Given the description of an element on the screen output the (x, y) to click on. 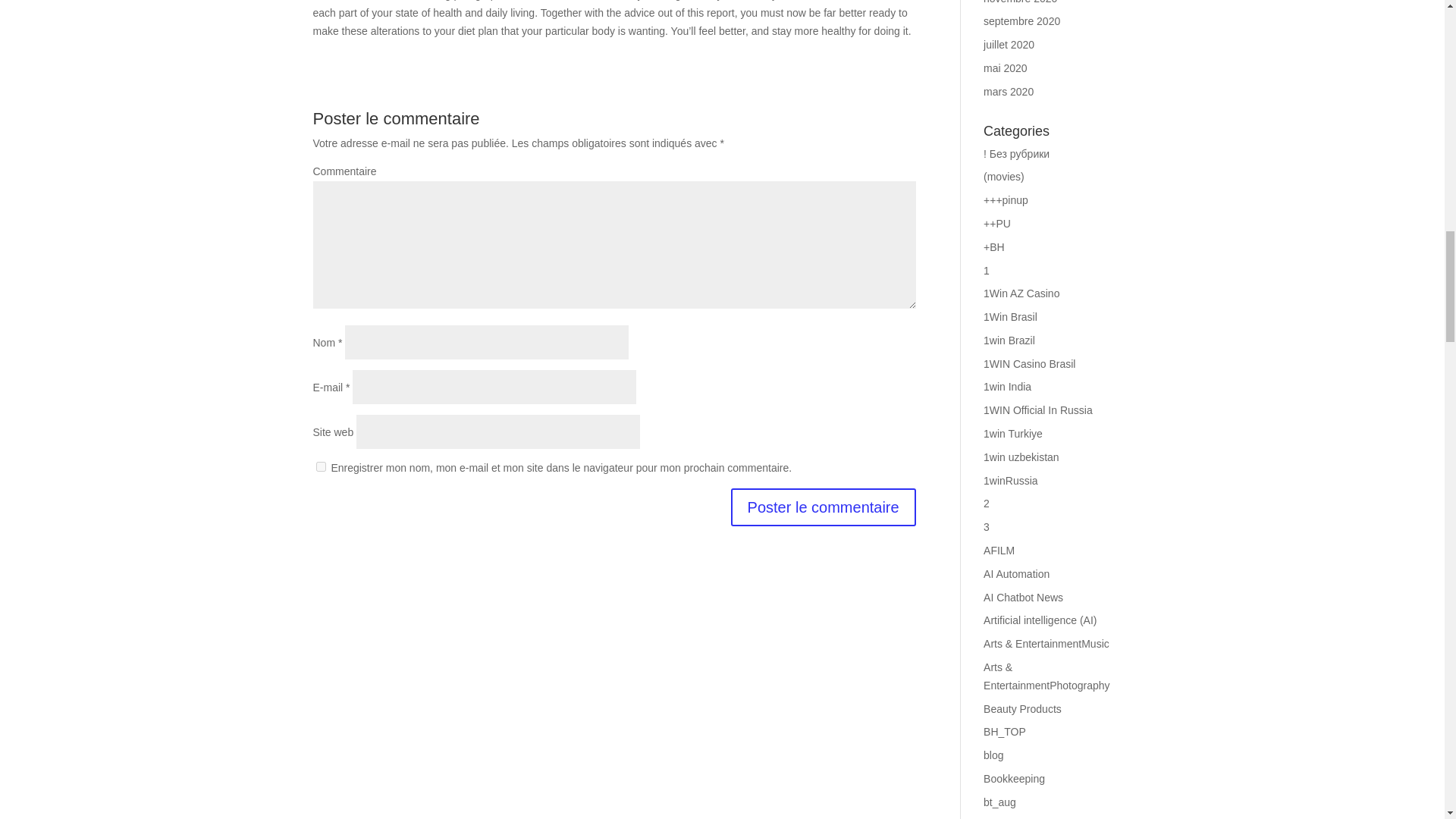
yes (319, 466)
Poster le commentaire (822, 507)
Beauty Products (1022, 708)
AFILM (999, 550)
